Given the description of an element on the screen output the (x, y) to click on. 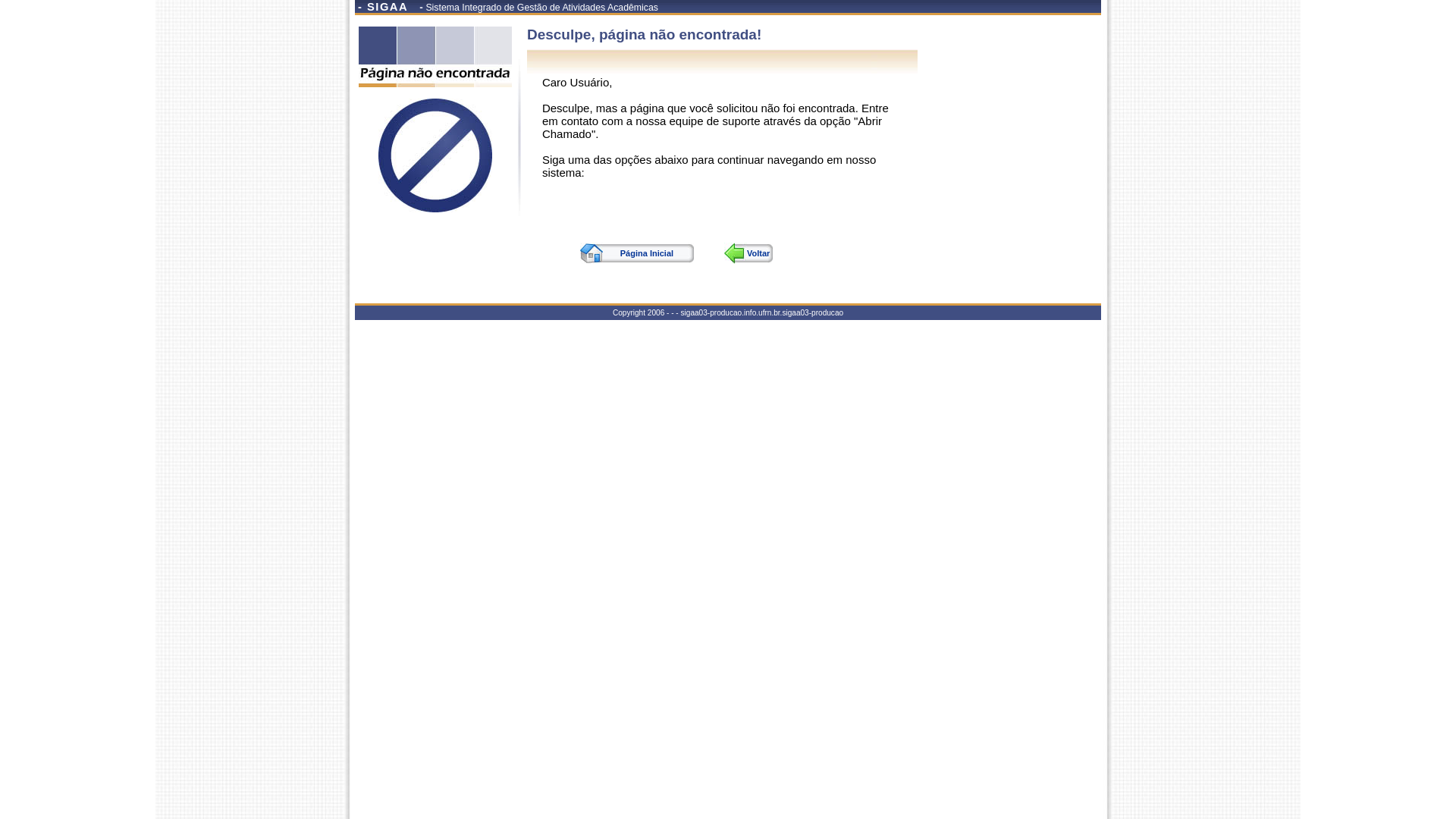
Voltar Element type: text (748, 252)
